Given the description of an element on the screen output the (x, y) to click on. 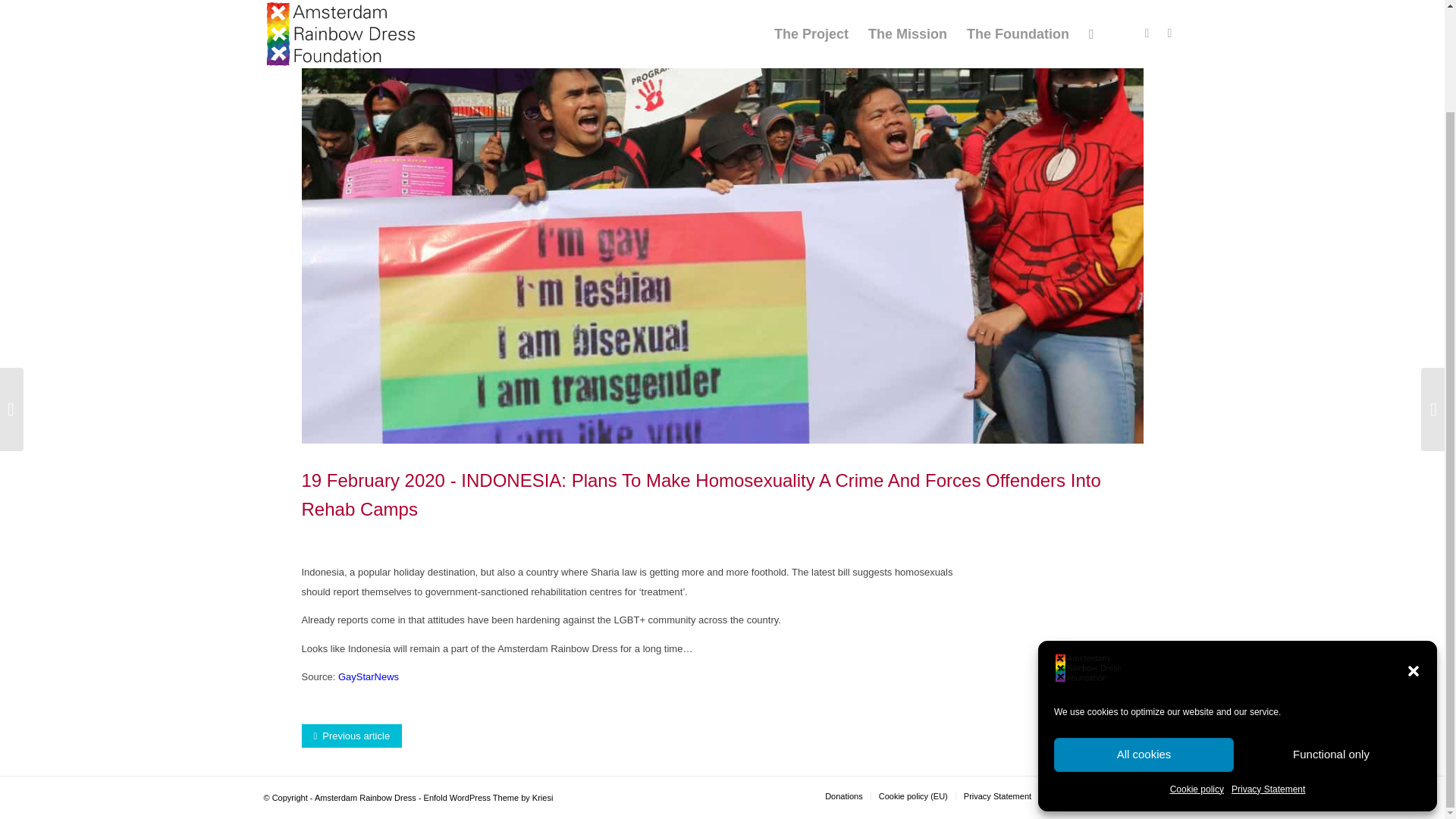
Privacy Statement (1267, 670)
All cookies (1143, 635)
Donations (844, 795)
Privacy Statement (996, 795)
Next article (1101, 735)
Enfold WordPress Theme by Kriesi (488, 797)
Cookie policy (1197, 670)
Contact (1060, 795)
Functional only (1331, 635)
Facebook (1146, 794)
